Given the description of an element on the screen output the (x, y) to click on. 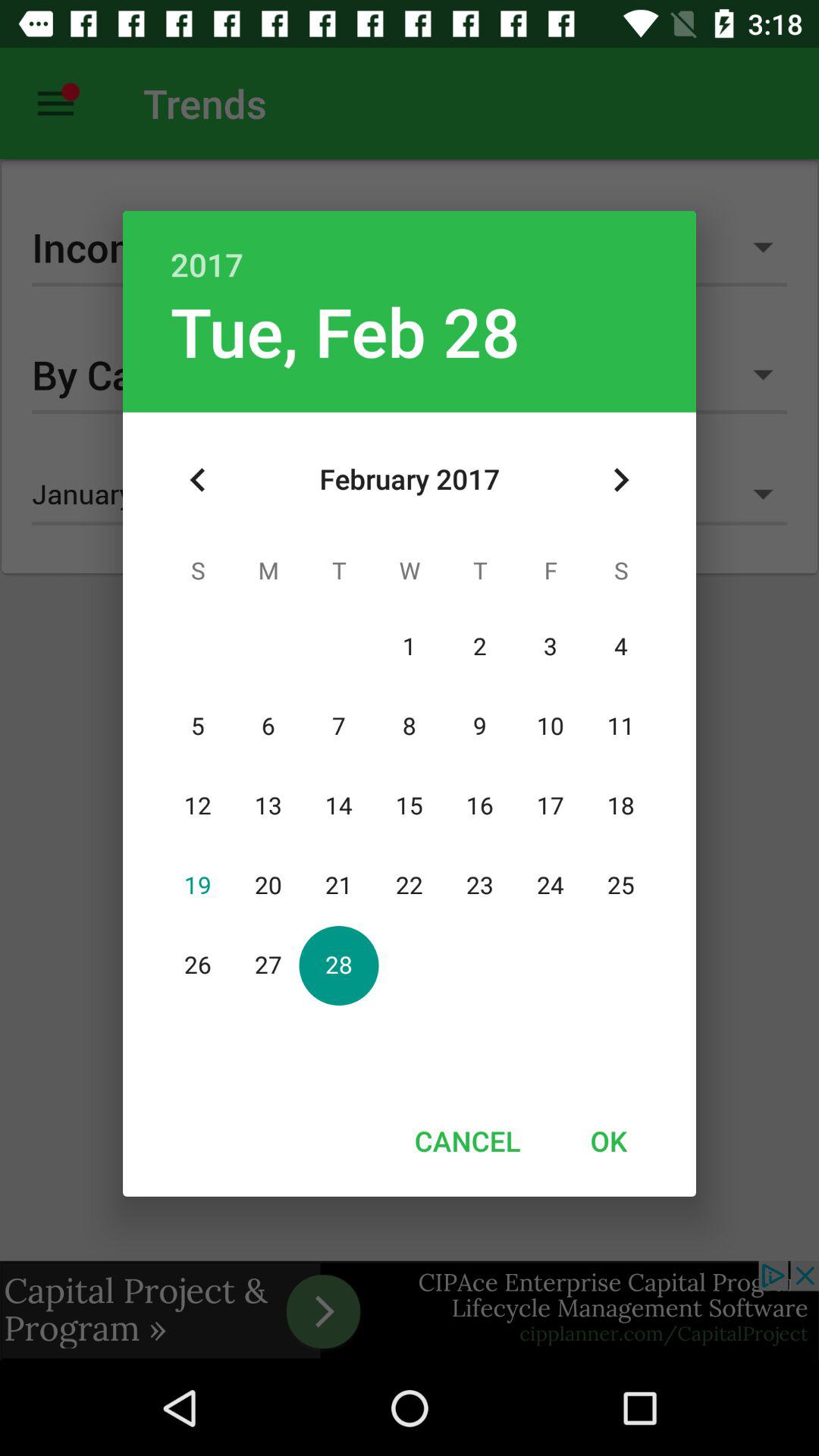
turn on icon at the top left corner (197, 479)
